Given the description of an element on the screen output the (x, y) to click on. 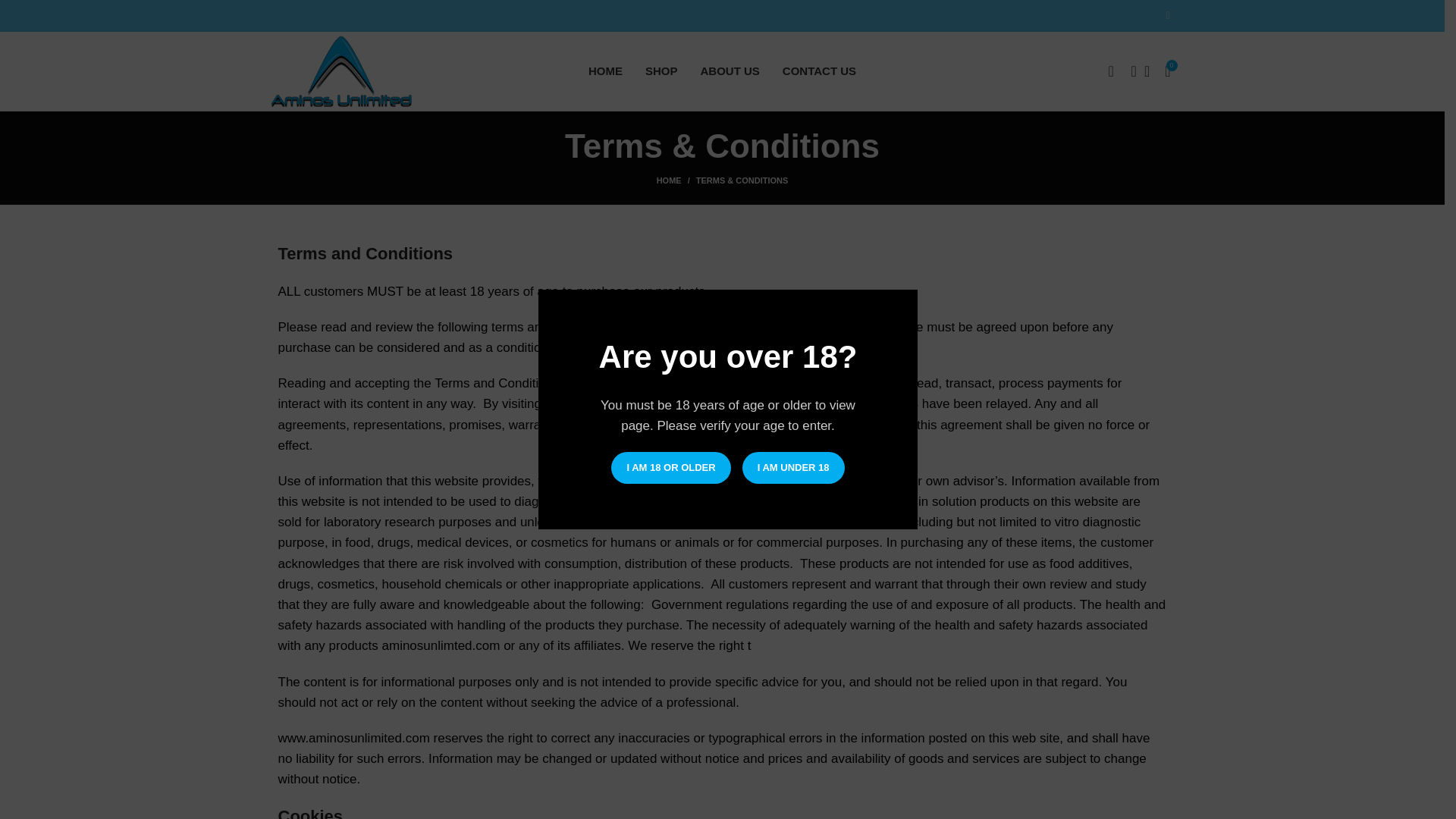
SHOP (661, 71)
ABOUT US (729, 71)
I AM 18 OR OLDER (670, 468)
Log in (988, 323)
HOME (605, 71)
HOME (675, 180)
I AM UNDER 18 (793, 468)
CONTACT US (819, 71)
